Given the description of an element on the screen output the (x, y) to click on. 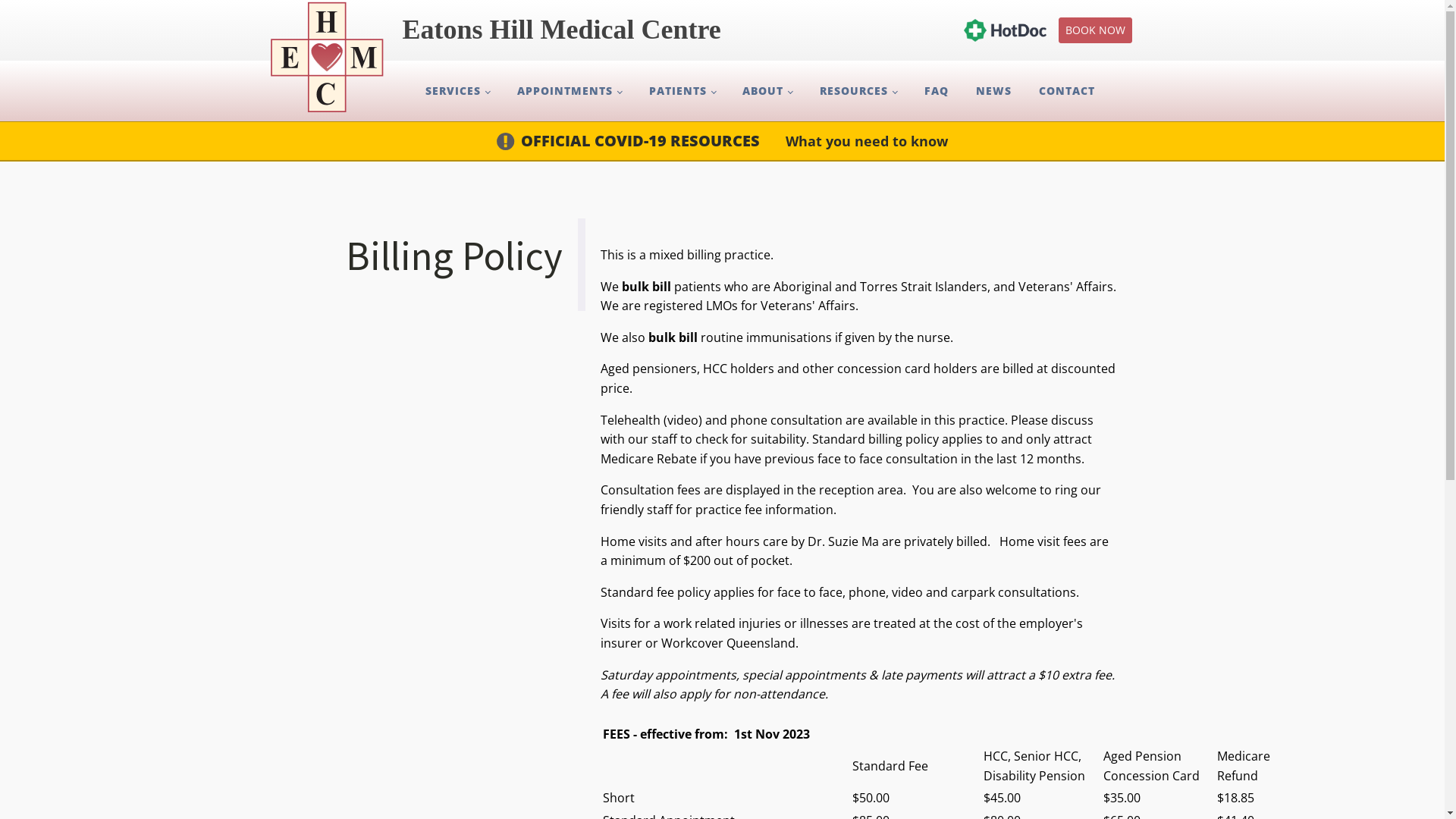
SERVICES Element type: text (457, 90)
PATIENTS Element type: text (682, 90)
NEWS Element type: text (993, 90)
RESOURCES Element type: text (858, 90)
APPOINTMENTS Element type: text (569, 90)
BOOK NOW Element type: text (1095, 30)
CONTACT Element type: text (1066, 90)
Eatons Hill Medical Centre Element type: text (523, 30)
What you need to know Element type: text (866, 141)
FAQ Element type: text (936, 90)
ABOUT Element type: text (767, 90)
